Given the description of an element on the screen output the (x, y) to click on. 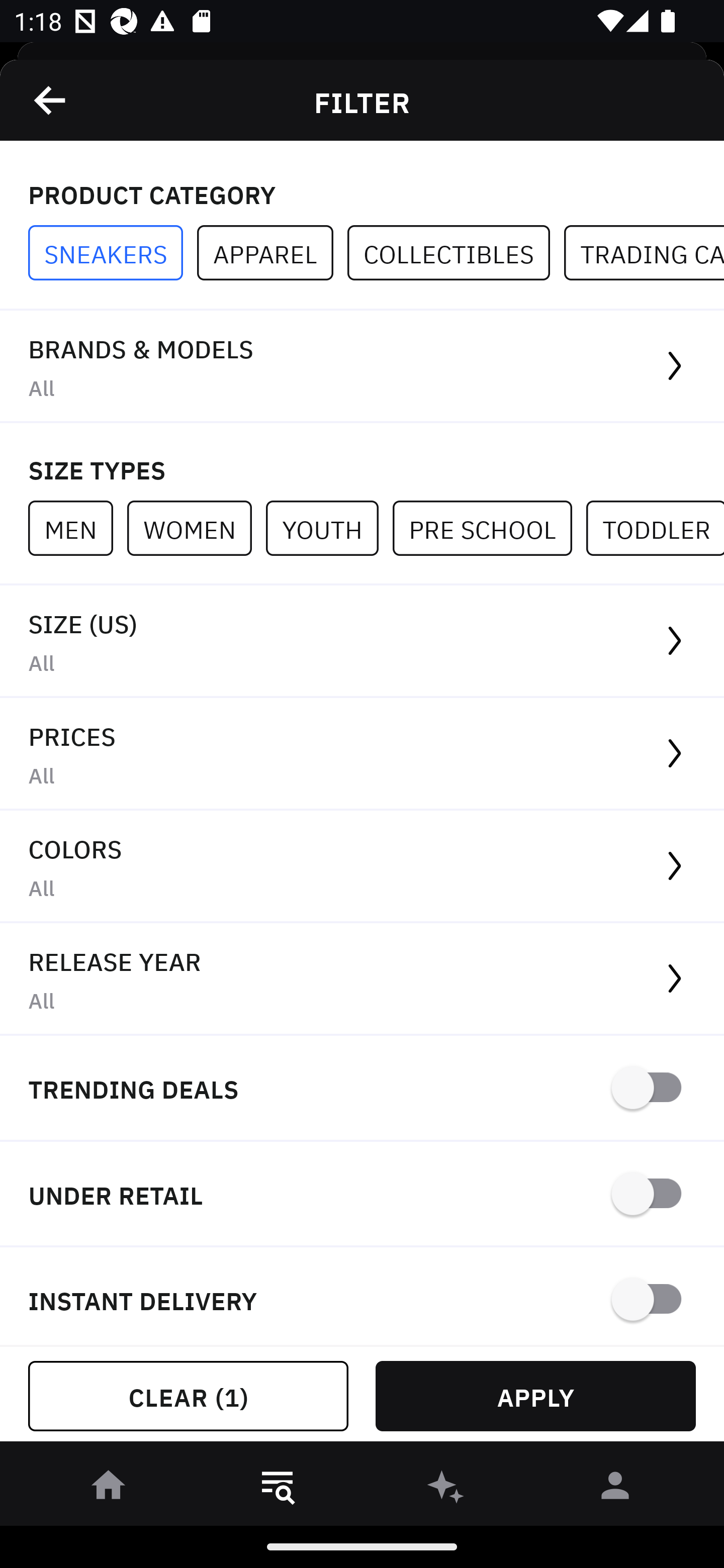
 (50, 100)
SNEAKERS (112, 252)
APPAREL (271, 252)
COLLECTIBLES (455, 252)
TRADING CARDS (643, 252)
BRANDS & MODELS All (362, 366)
MEN (77, 527)
WOMEN (196, 527)
YOUTH (328, 527)
PRE SCHOOL (489, 527)
TODDLER (655, 527)
SIZE (US) All (362, 640)
PRICES All (362, 753)
COLORS All (362, 866)
RELEASE YEAR All (362, 979)
TRENDING DEALS (362, 1088)
UNDER RETAIL (362, 1194)
INSTANT DELIVERY (362, 1296)
CLEAR (1) (188, 1396)
APPLY (535, 1396)
󰋜 (108, 1488)
󱎸 (277, 1488)
󰫢 (446, 1488)
󰀄 (615, 1488)
